Given the description of an element on the screen output the (x, y) to click on. 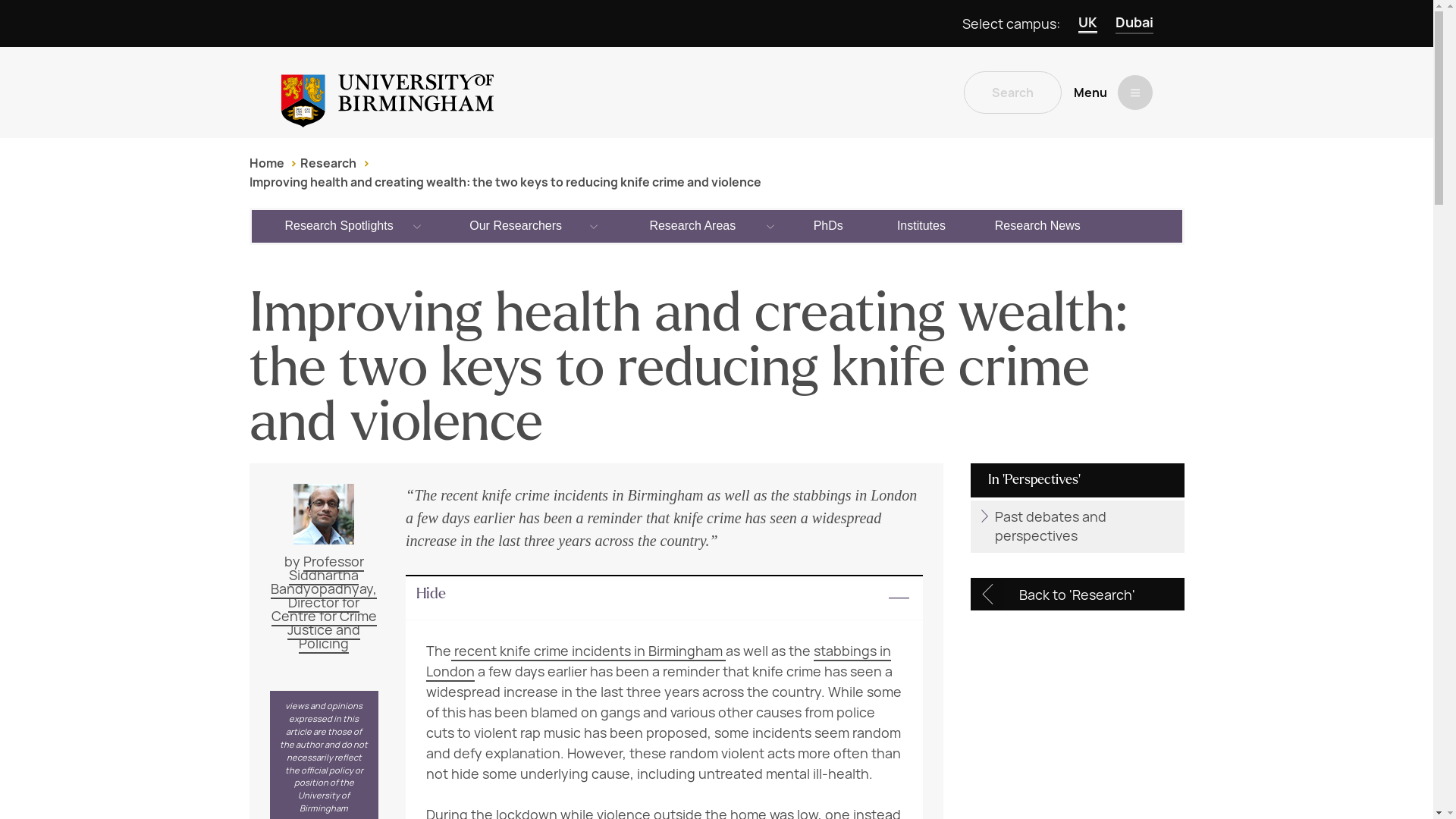
Dubai (1134, 23)
Search (1012, 92)
Our Researchers (516, 225)
Research (327, 162)
Home (265, 162)
Research Spotlights (339, 225)
Research Areas (693, 225)
UK (1087, 23)
